Given the description of an element on the screen output the (x, y) to click on. 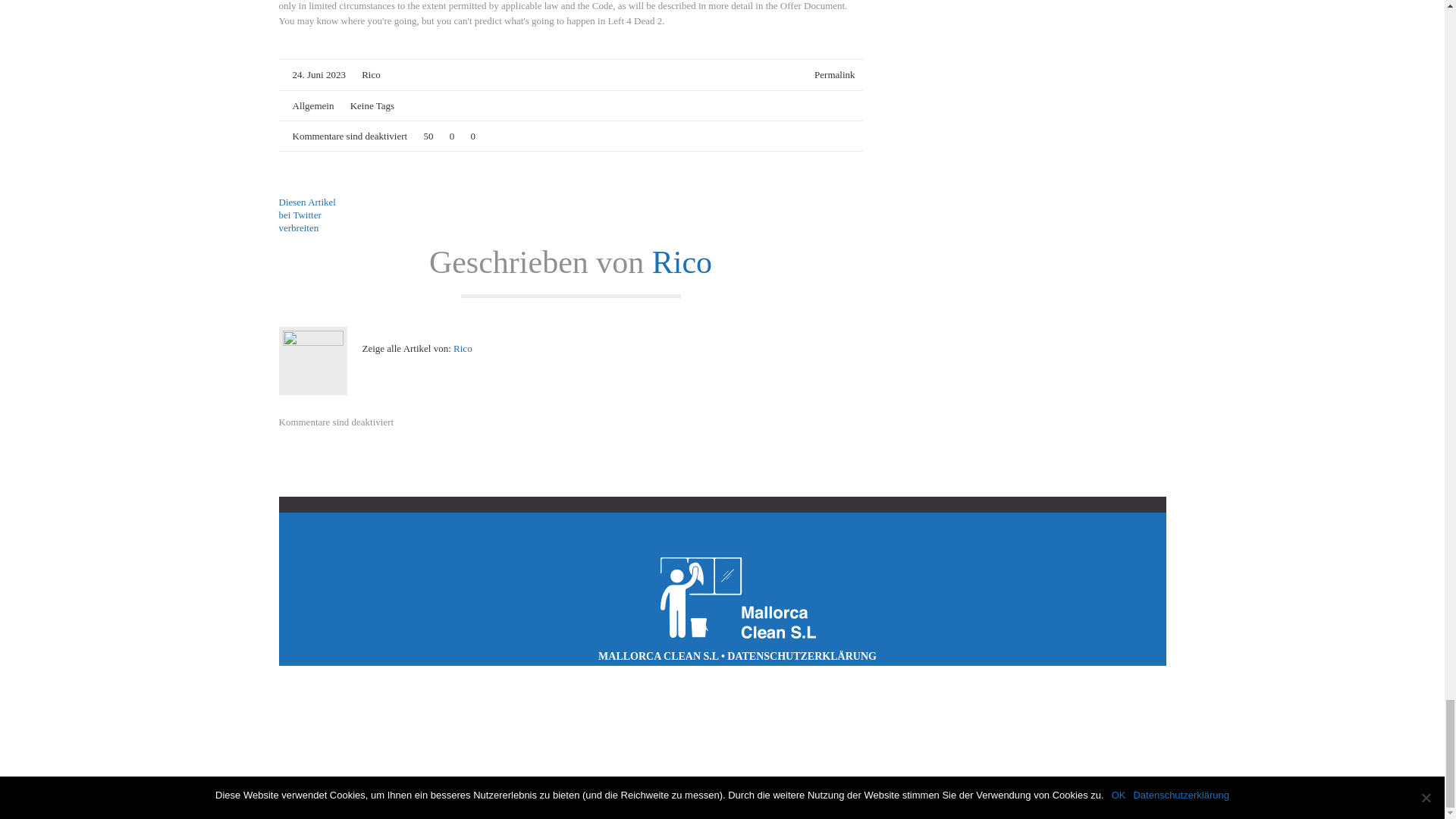
Anzahl der Ansichten. (424, 135)
